Given the description of an element on the screen output the (x, y) to click on. 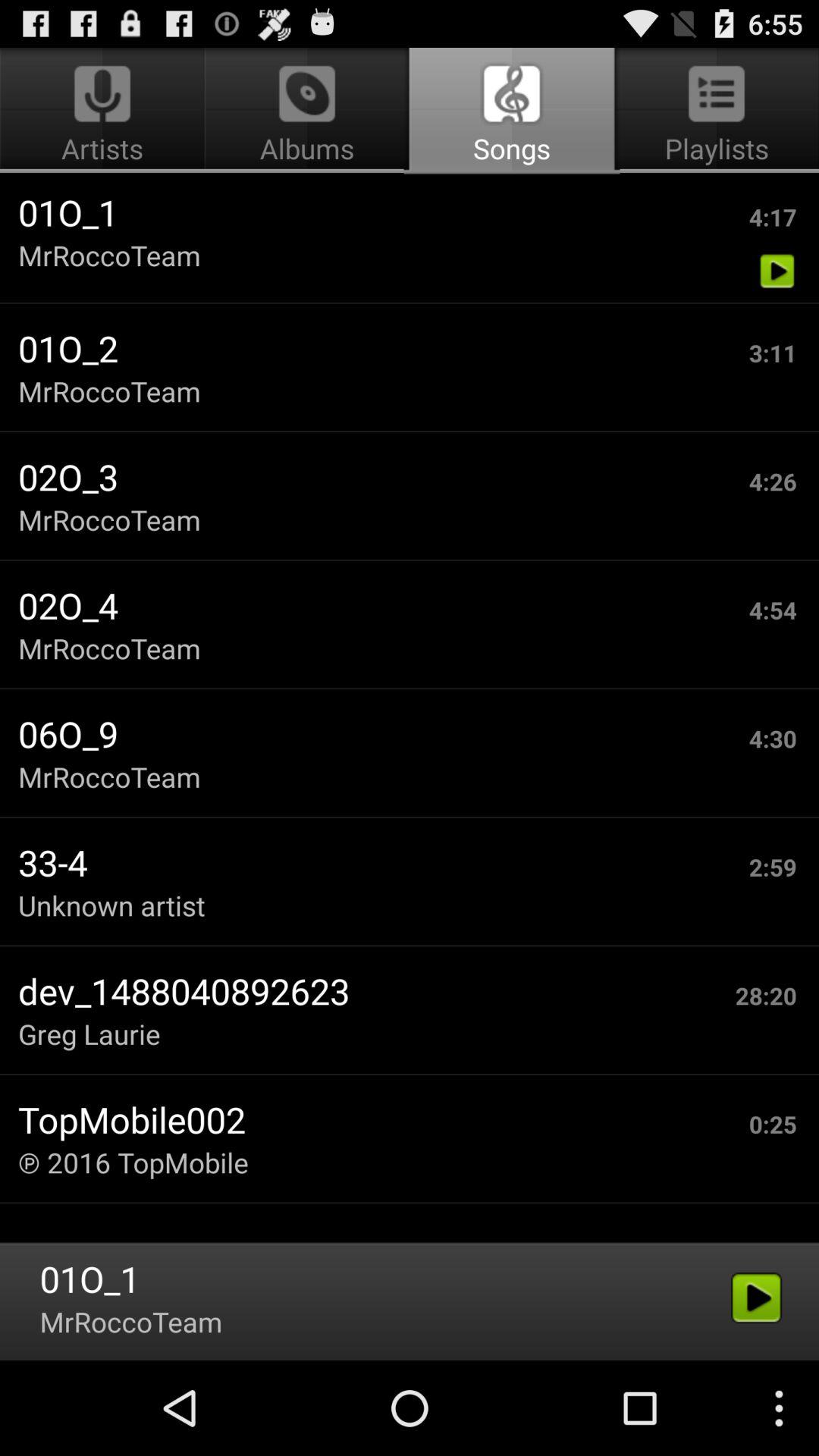
tap the item above 01o_1 item (307, 111)
